Given the description of an element on the screen output the (x, y) to click on. 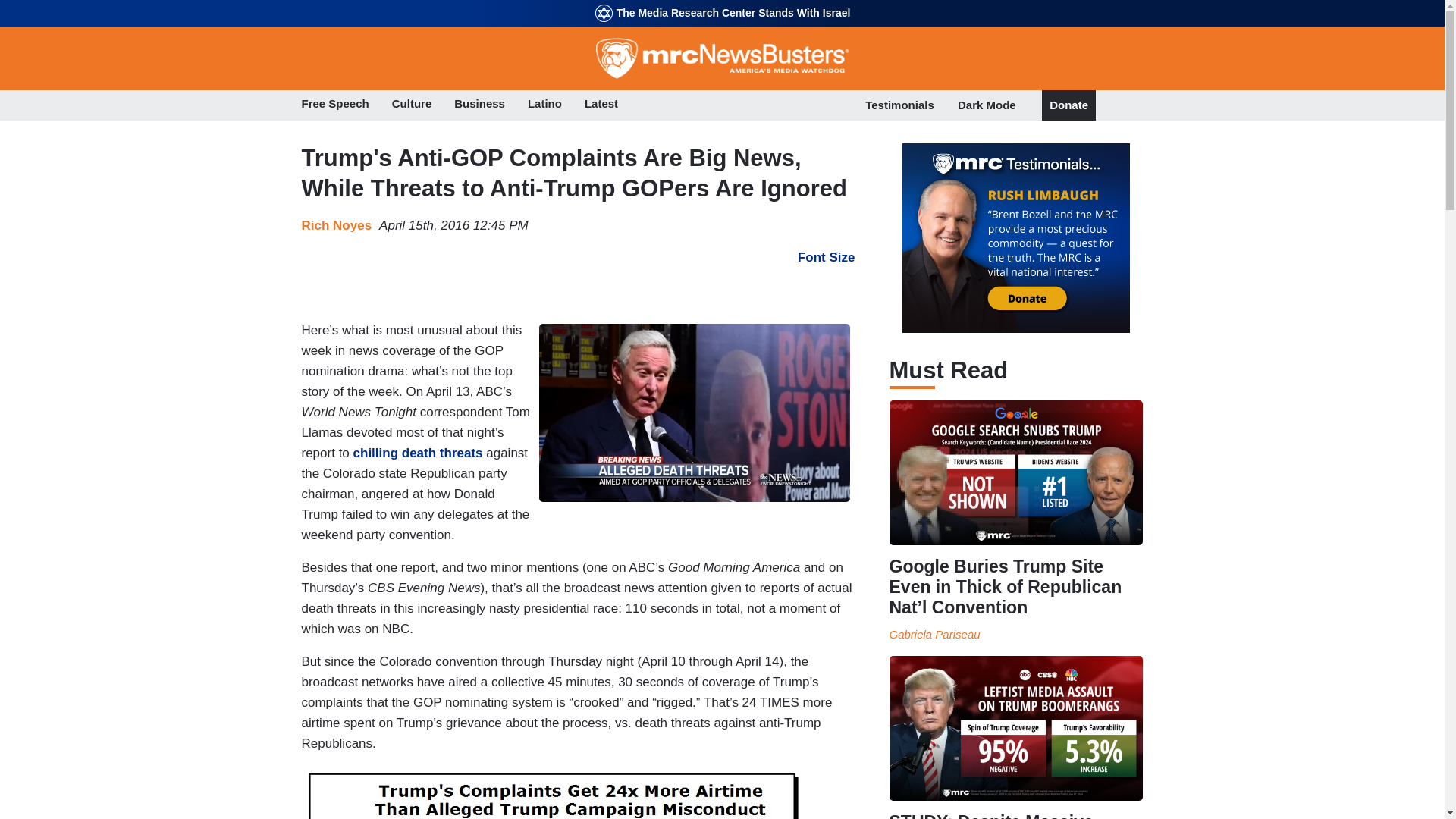
Culture (411, 105)
Donate (1068, 105)
Latino (544, 105)
Skip to main content (721, 1)
Dark Mode (987, 104)
Business (479, 105)
Latest (601, 105)
Testimonials (899, 104)
Free Speech (335, 105)
